Given the description of an element on the screen output the (x, y) to click on. 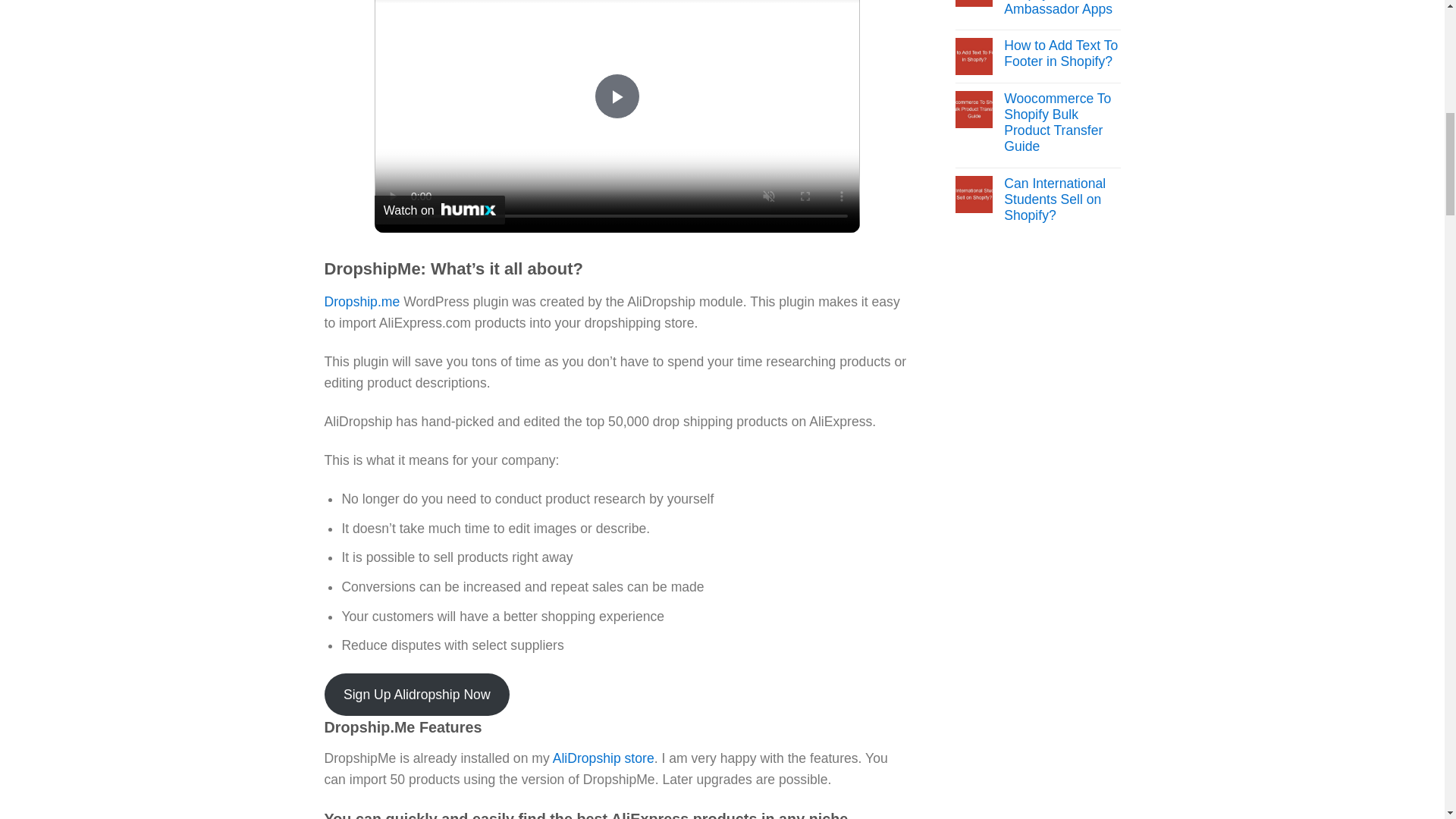
Dropship.me (362, 301)
Watch on (439, 209)
share (828, 2)
Share (828, 2)
Play Video (617, 95)
AliDropship store (603, 758)
Sign Up Alidropship Now (417, 694)
Play Video (617, 95)
